Given the description of an element on the screen output the (x, y) to click on. 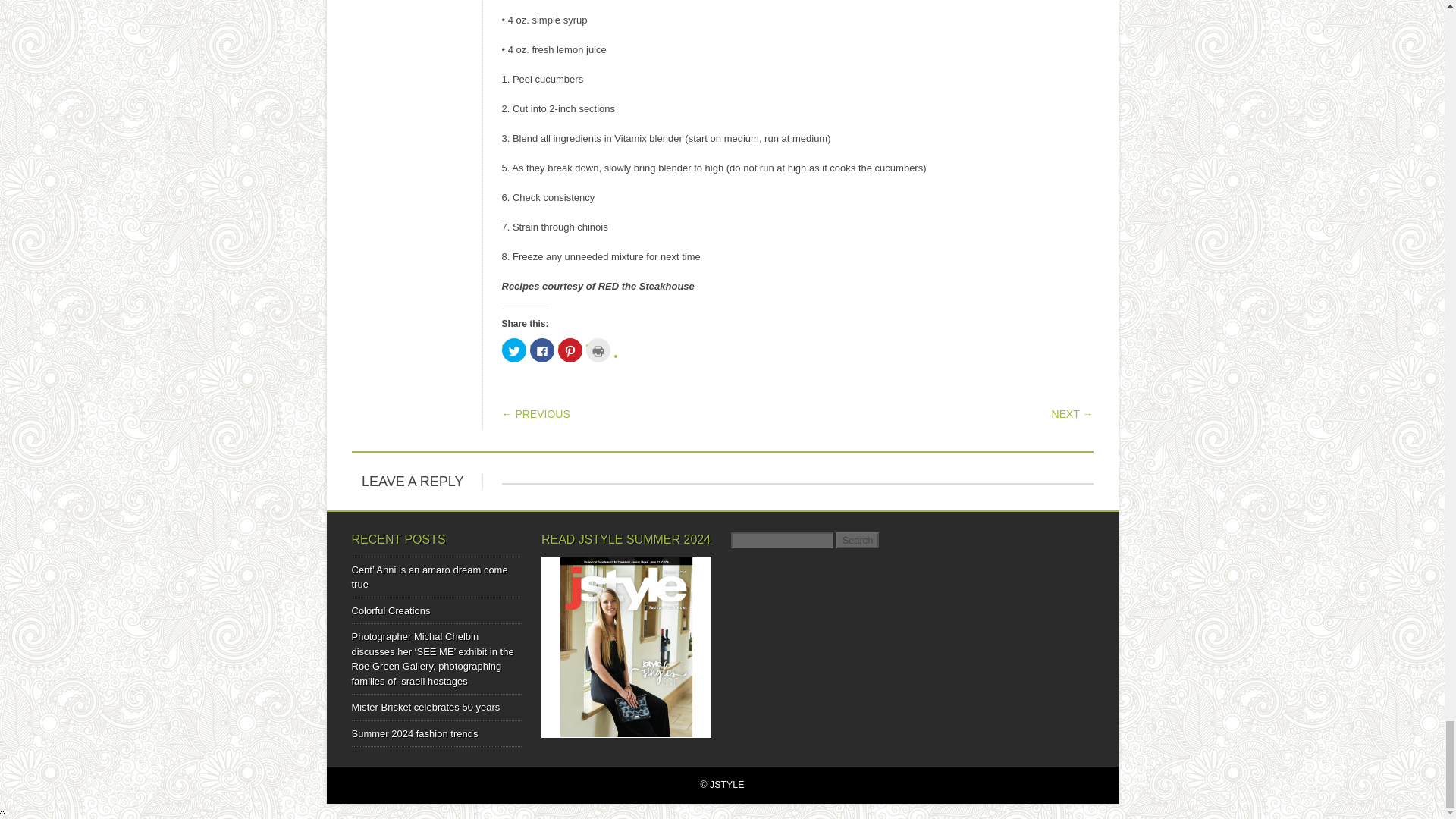
Colorful Creations (391, 610)
Search (857, 539)
Click to share on Facebook (541, 350)
Click to share on Twitter (513, 350)
